Given the description of an element on the screen output the (x, y) to click on. 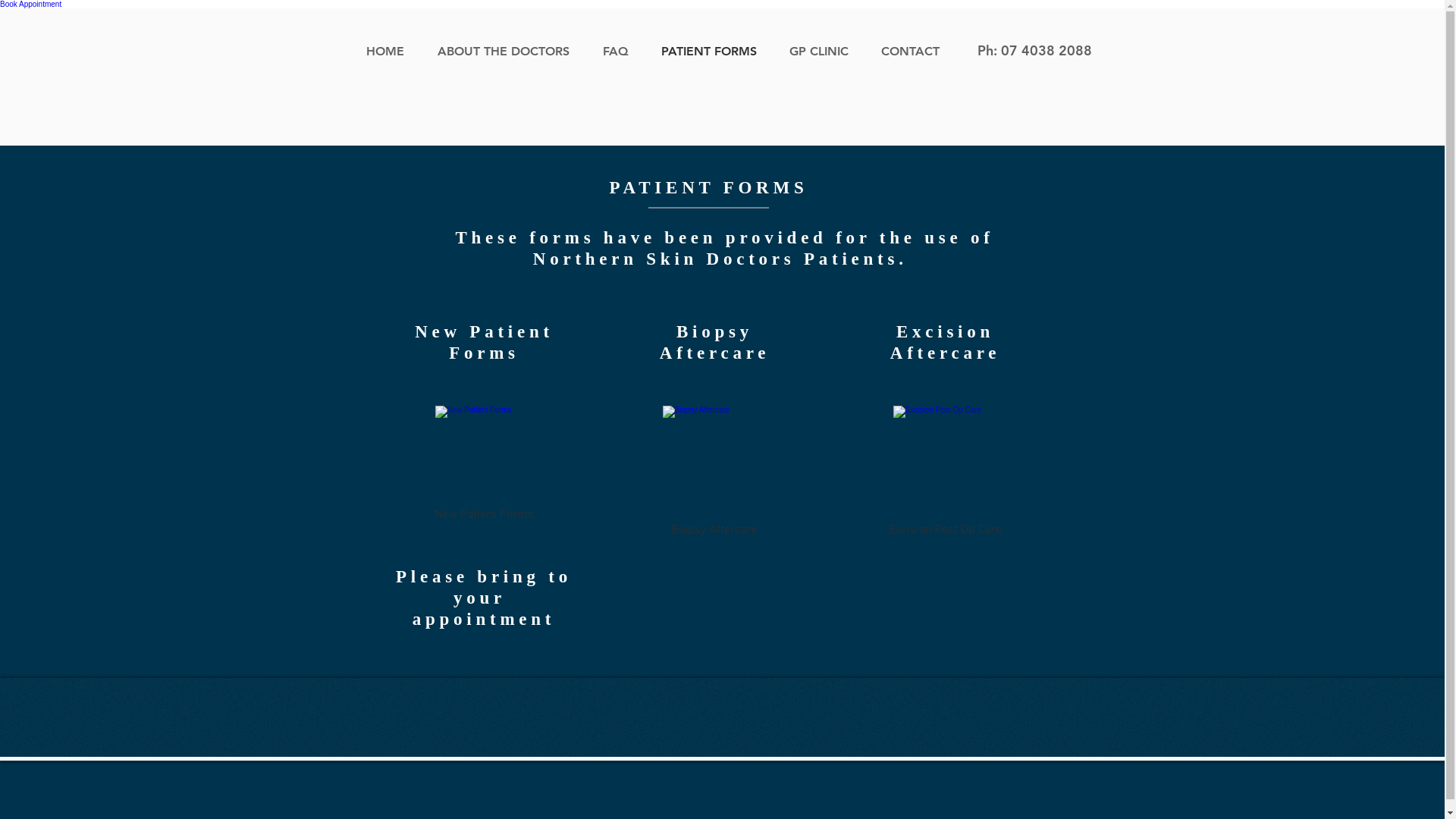
HOME Element type: text (390, 51)
CONTACT Element type: text (914, 51)
Excision Post Op Care Element type: text (944, 473)
FAQ Element type: text (620, 51)
ABOUT THE DOCTORS Element type: text (508, 51)
Biopsy Aftercare Element type: text (713, 473)
PATIENT FORMS Element type: text (713, 51)
New Patient Forms Element type: text (483, 466)
GP CLINIC Element type: text (823, 51)
Book Appointment Element type: text (30, 4)
